Given the description of an element on the screen output the (x, y) to click on. 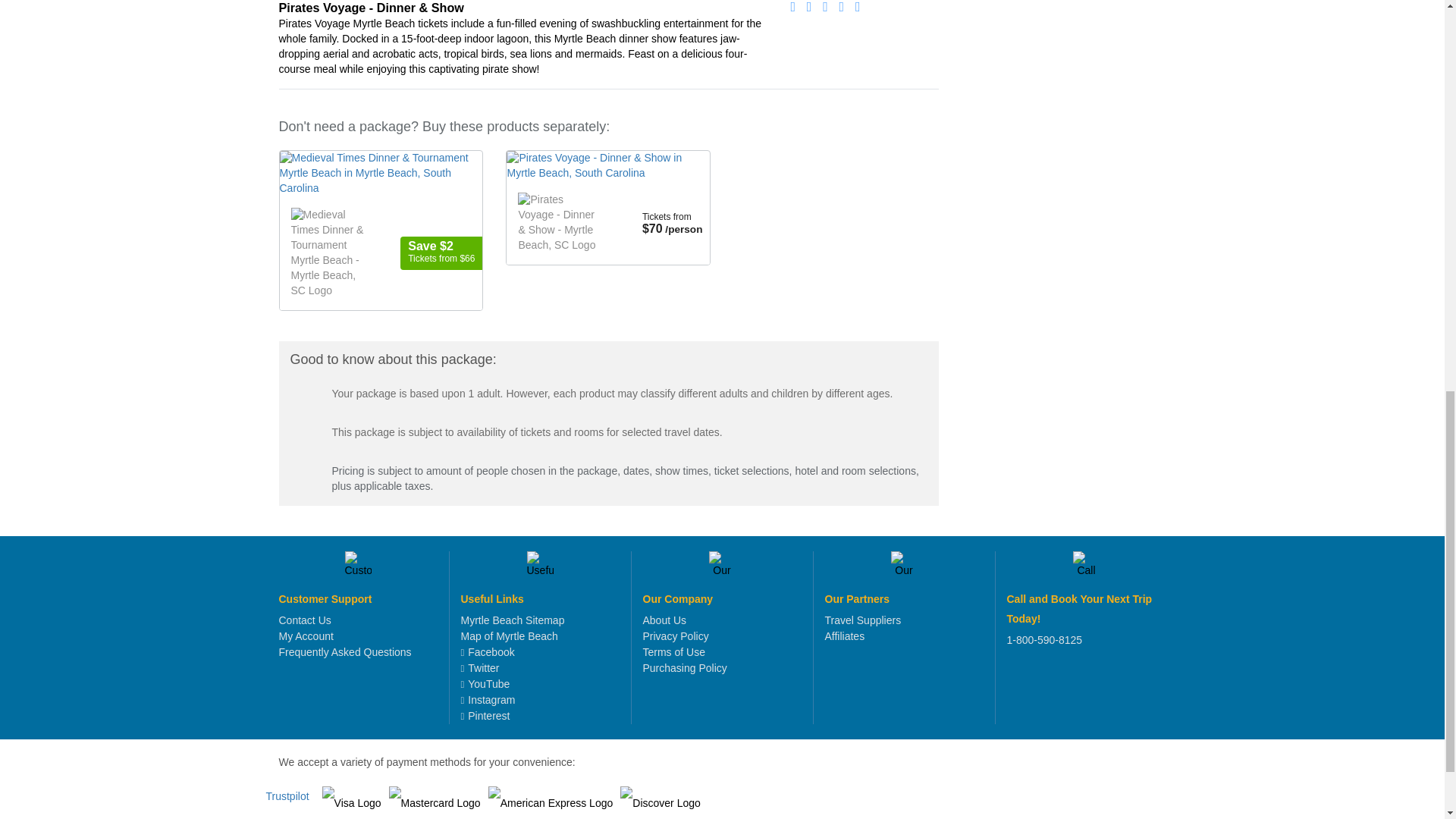
About Us (665, 620)
Facebook (488, 652)
Contact Us (305, 620)
Myrtle Beach Sitemap (512, 620)
My Account (306, 635)
1-800-590-8125 (1045, 639)
Purchasing Policy (684, 667)
YouTube (486, 684)
Pinterest (486, 715)
Frequently Asked Questions (345, 652)
